Given the description of an element on the screen output the (x, y) to click on. 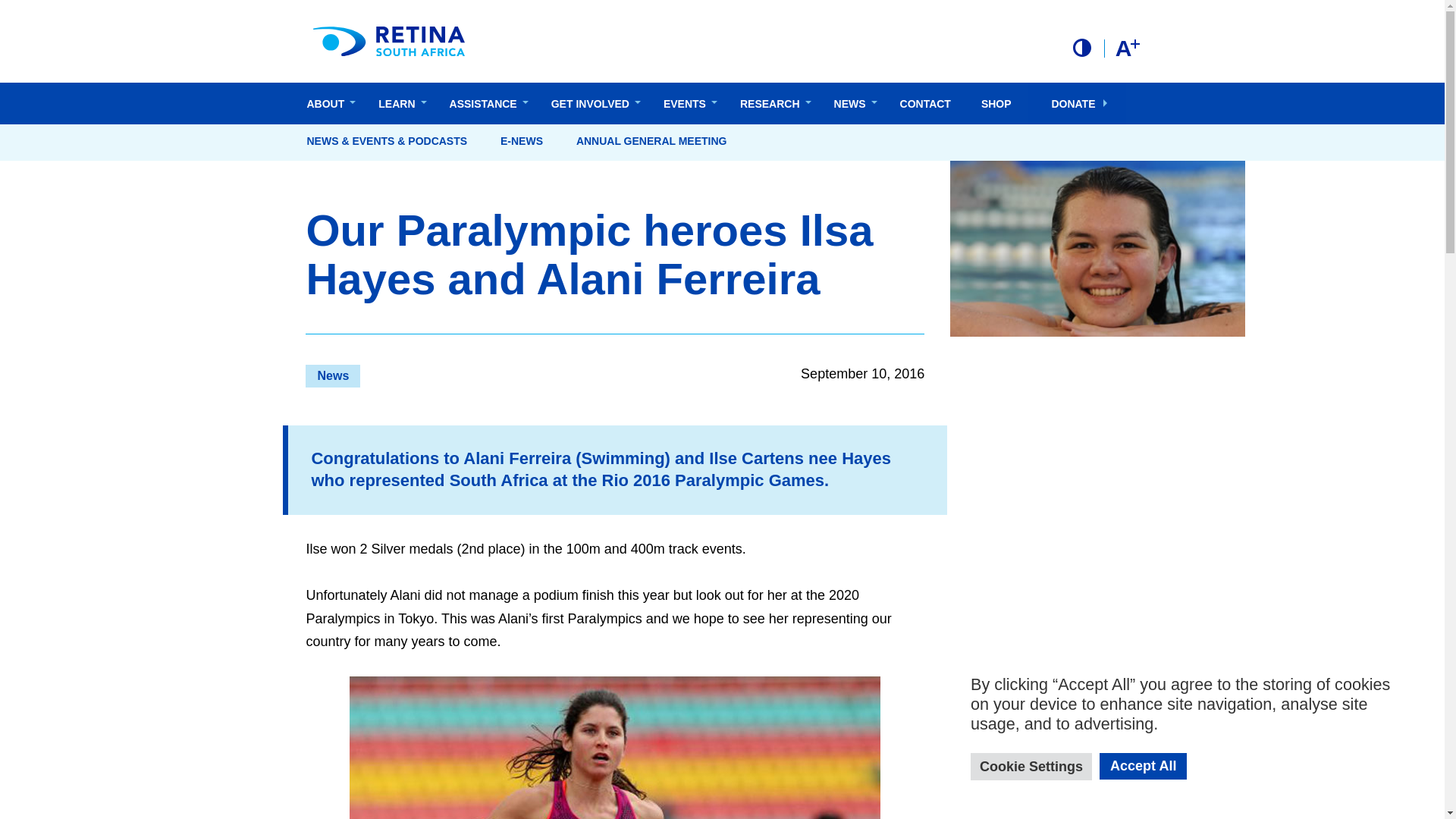
RESEARCH (771, 103)
EVENTS (686, 103)
GET INVOLVED (591, 103)
ABOUT (326, 103)
ASSISTANCE (484, 103)
NEWS (851, 103)
LEARN (397, 103)
A (1127, 48)
